Given the description of an element on the screen output the (x, y) to click on. 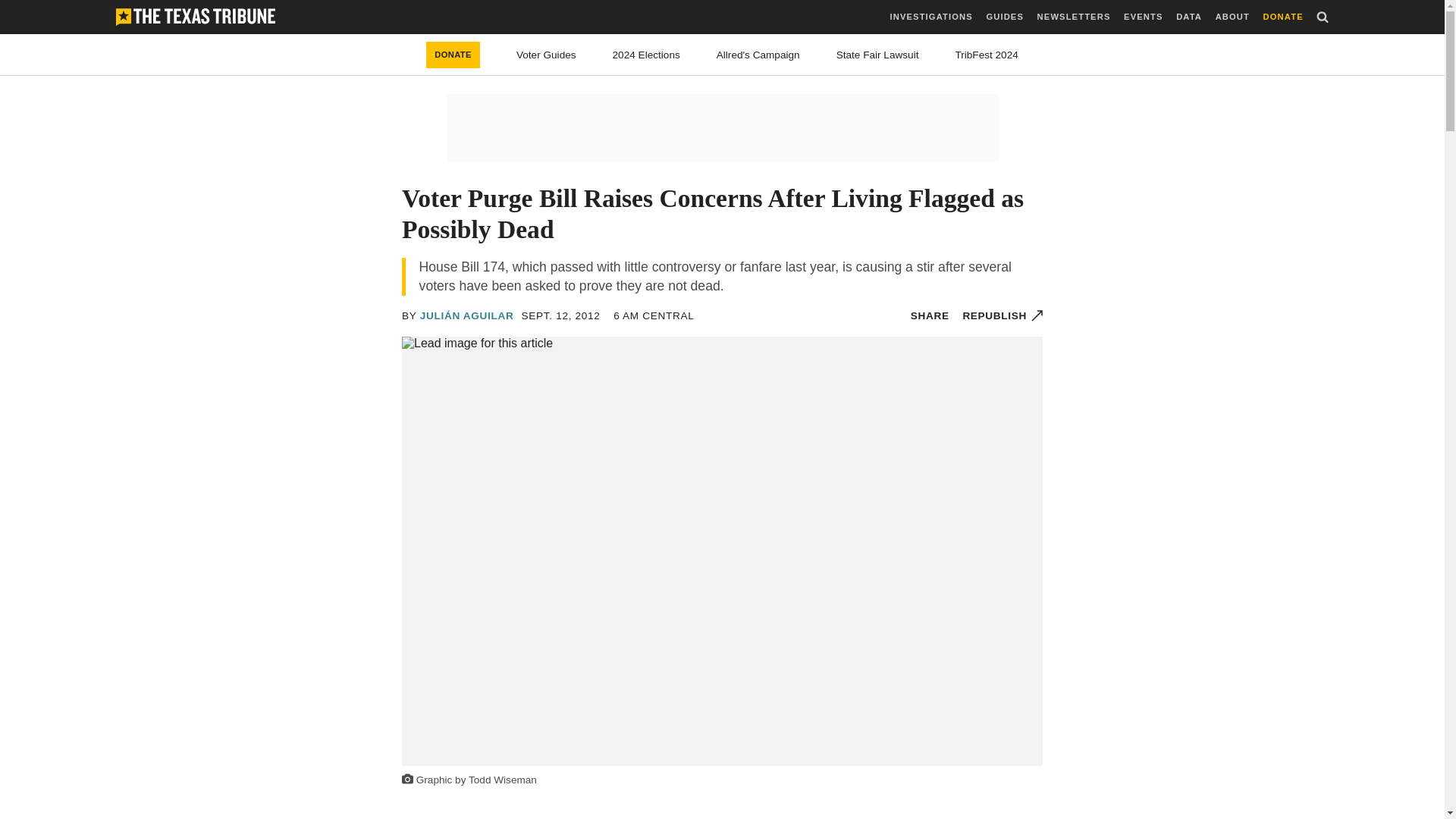
DONATE (1283, 17)
ABOUT (1232, 17)
EVENTS (1142, 17)
REPUBLISH (1002, 315)
2012-09-12 06:00 CDT (653, 315)
TribFest 2024 (986, 54)
2024 Elections (645, 54)
Voter Guides (546, 54)
INVESTIGATIONS (930, 17)
GUIDES (1004, 17)
